Given the description of an element on the screen output the (x, y) to click on. 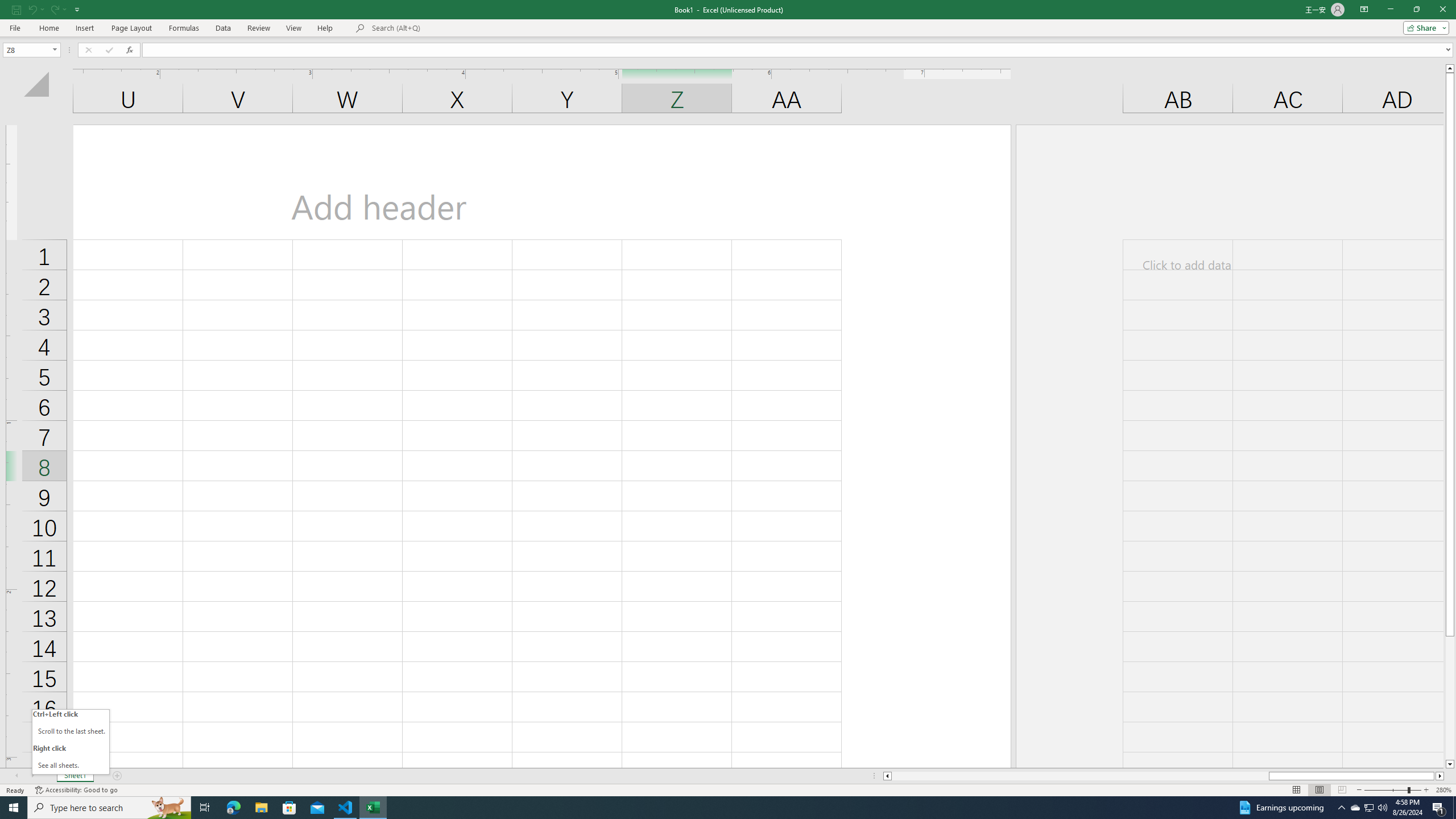
Page left (1079, 775)
